Given the description of an element on the screen output the (x, y) to click on. 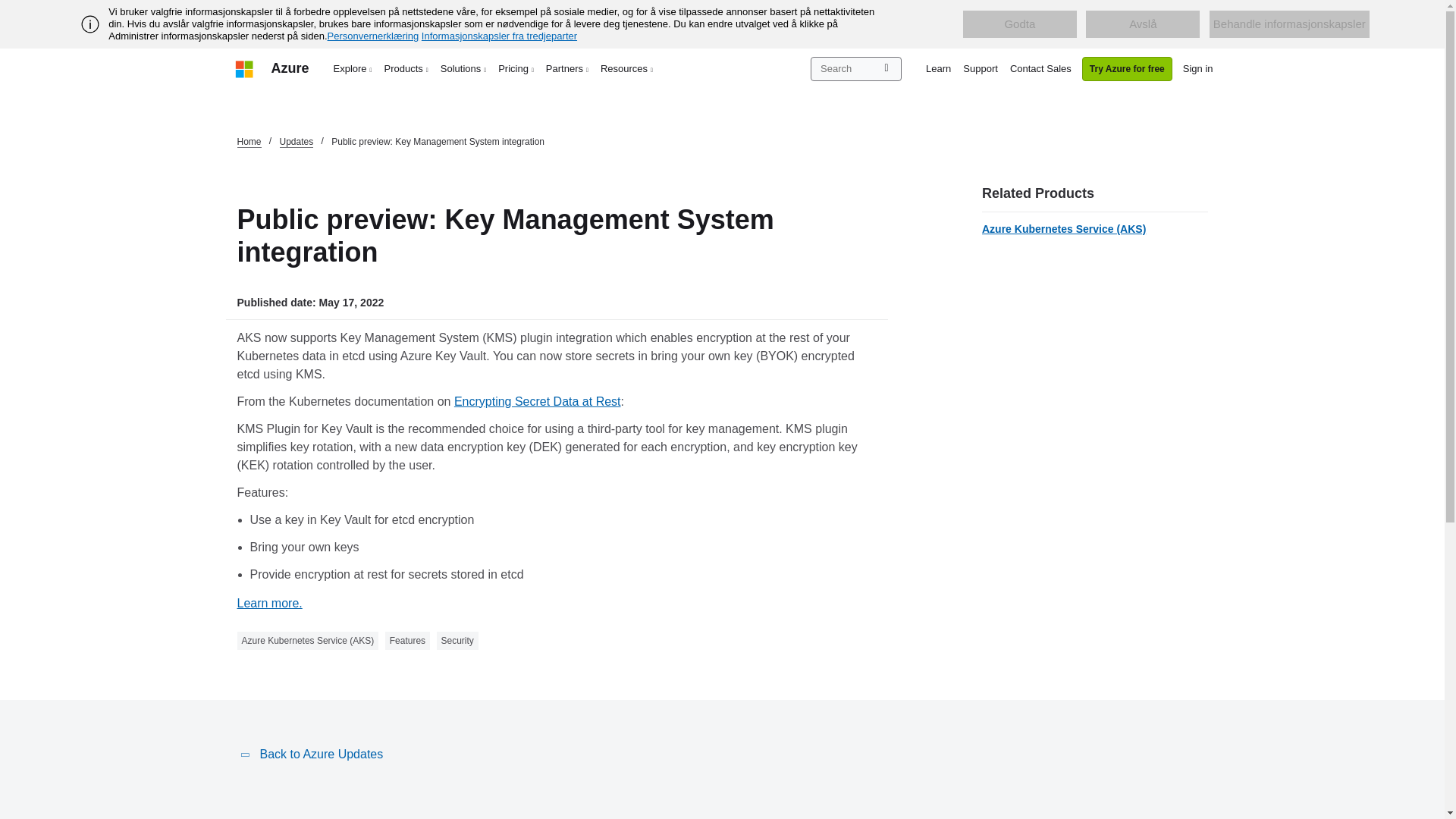
Godta (1019, 23)
Informasjonskapsler fra tredjeparter (499, 35)
Products (405, 68)
Skip to main content (7, 7)
Azure (289, 68)
Explore (352, 68)
Behandle informasjonskapsler (1289, 23)
